Given the description of an element on the screen output the (x, y) to click on. 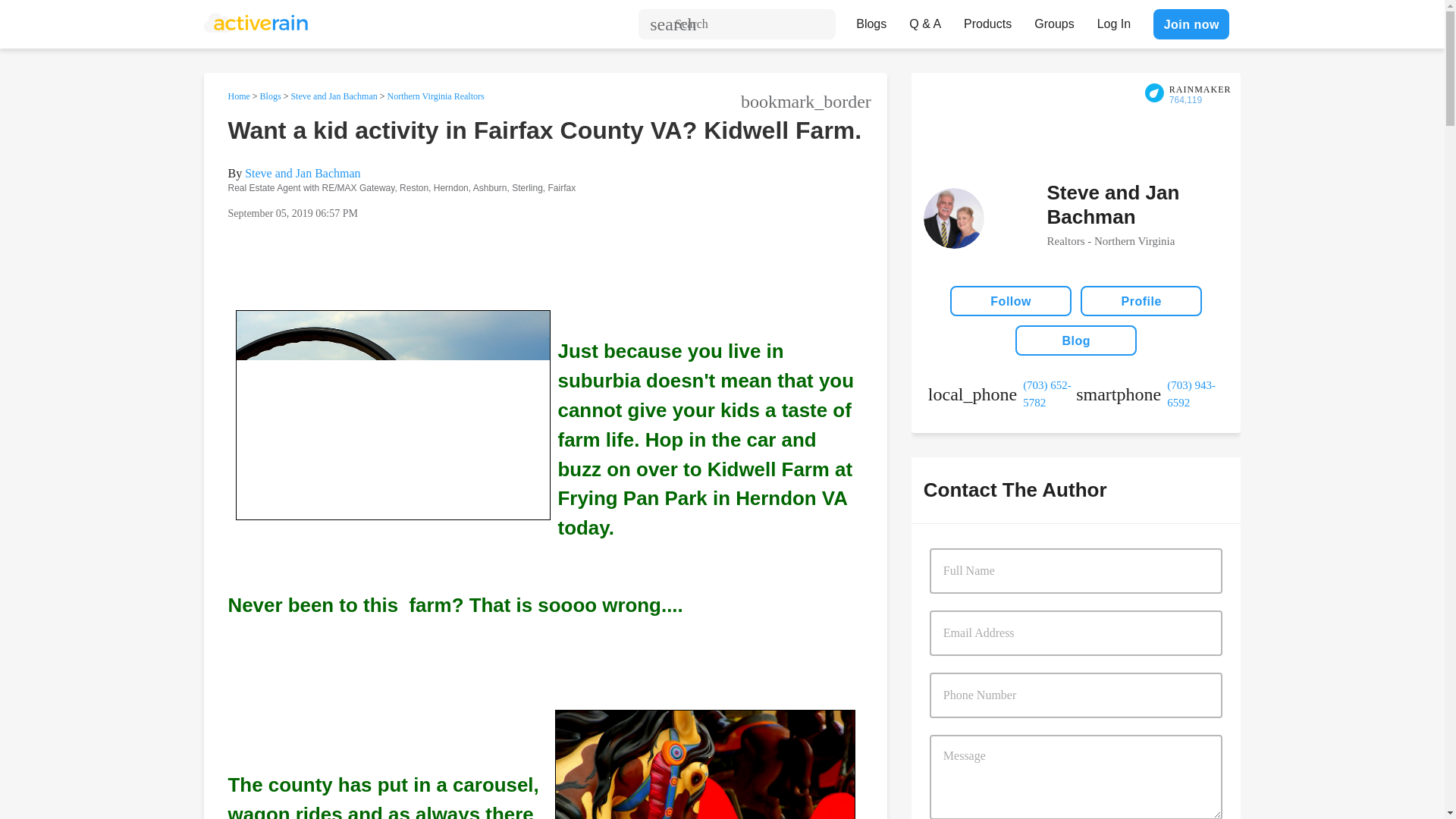
Log In (1113, 19)
Home (237, 95)
work (1001, 393)
Products (986, 19)
Steve and Jan Bachman (301, 173)
Groups (1053, 19)
carousel at kidwell farm at frying pan park (705, 764)
cell (1149, 393)
Blogs (870, 19)
Blogs (270, 95)
Northern Virginia Realtors (435, 95)
Join now (1190, 24)
Steve and Jan Bachman (333, 95)
Kidwell Farm at Frying Pan Park Herndon VA (392, 415)
